Given the description of an element on the screen output the (x, y) to click on. 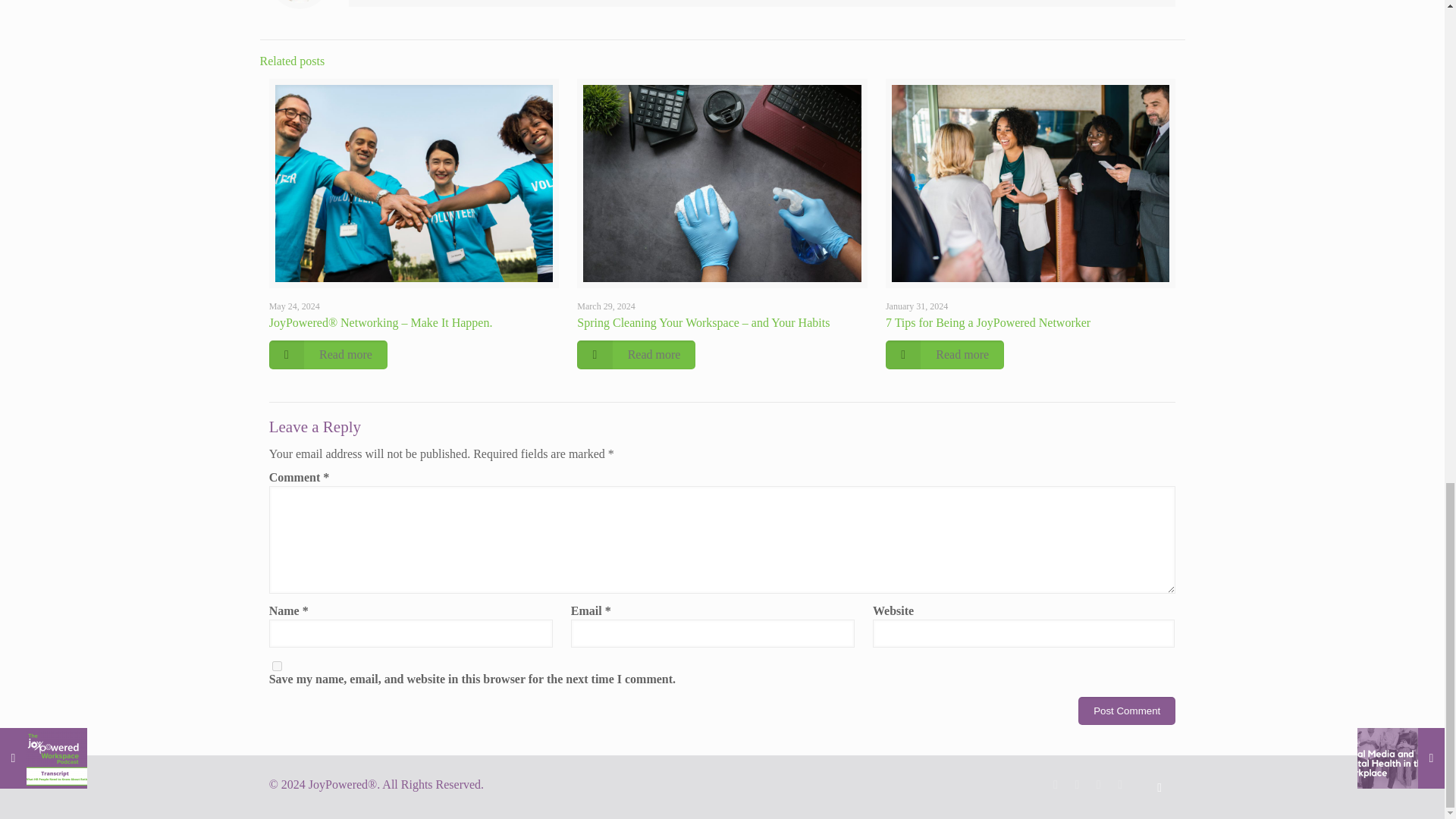
Post Comment (1126, 710)
Instagram (1120, 784)
yes (277, 665)
Facebook (1055, 784)
Twitter (1076, 784)
LinkedIn (1098, 784)
